Given the description of an element on the screen output the (x, y) to click on. 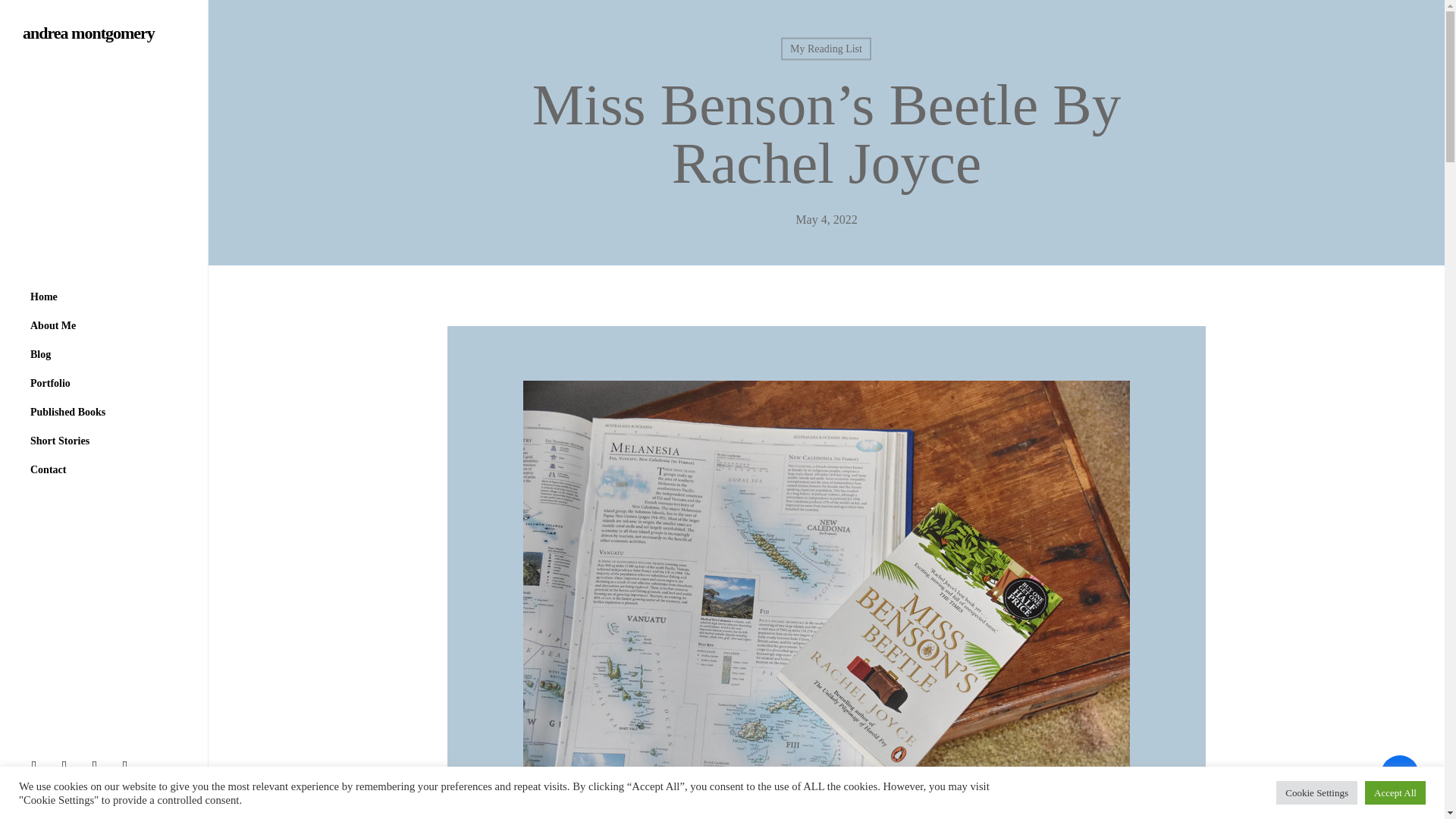
linkedin (97, 764)
Published Books (68, 411)
twitter (37, 764)
Short Stories (60, 440)
Home (44, 296)
About Me (52, 325)
Blog (40, 353)
andrea montgomery (88, 32)
facebook (67, 764)
instagram (128, 764)
Contact (48, 469)
My Reading List (825, 48)
Portfolio (50, 382)
